Given the description of an element on the screen output the (x, y) to click on. 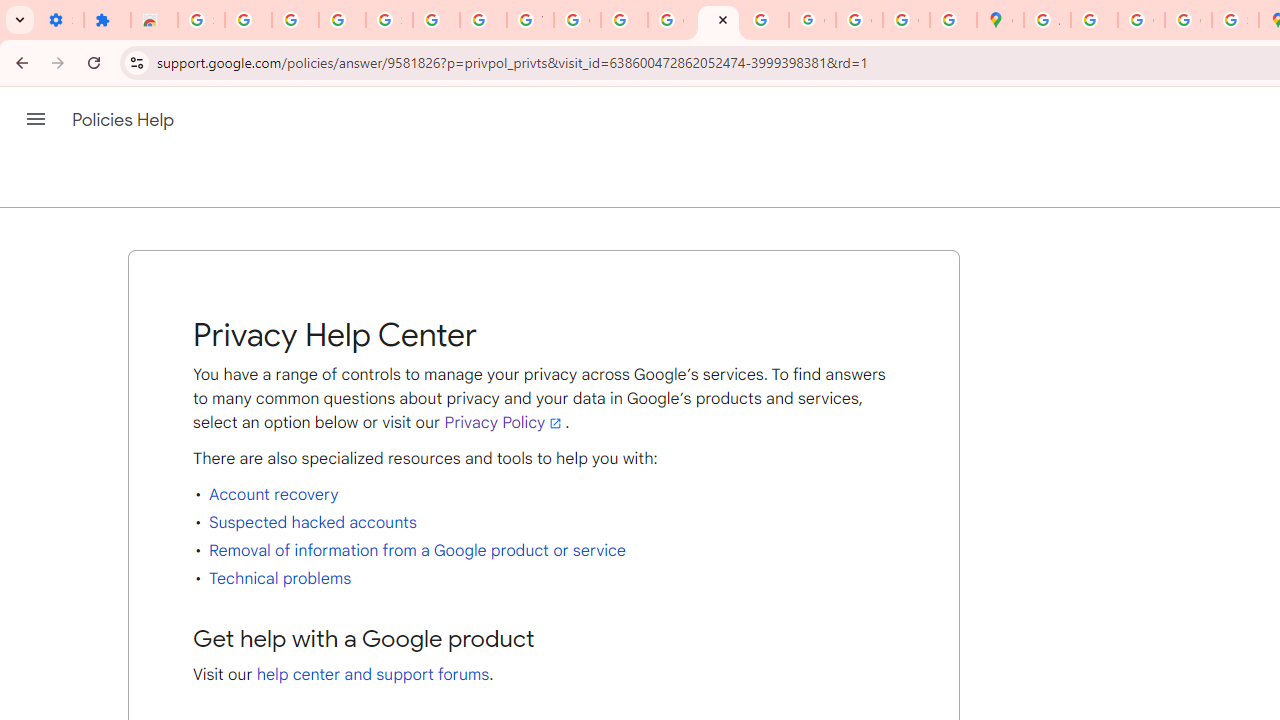
Removal of information from a Google product or service (416, 550)
Reviews: Helix Fruit Jump Arcade Game (153, 20)
Account recovery (273, 494)
